Given the description of an element on the screen output the (x, y) to click on. 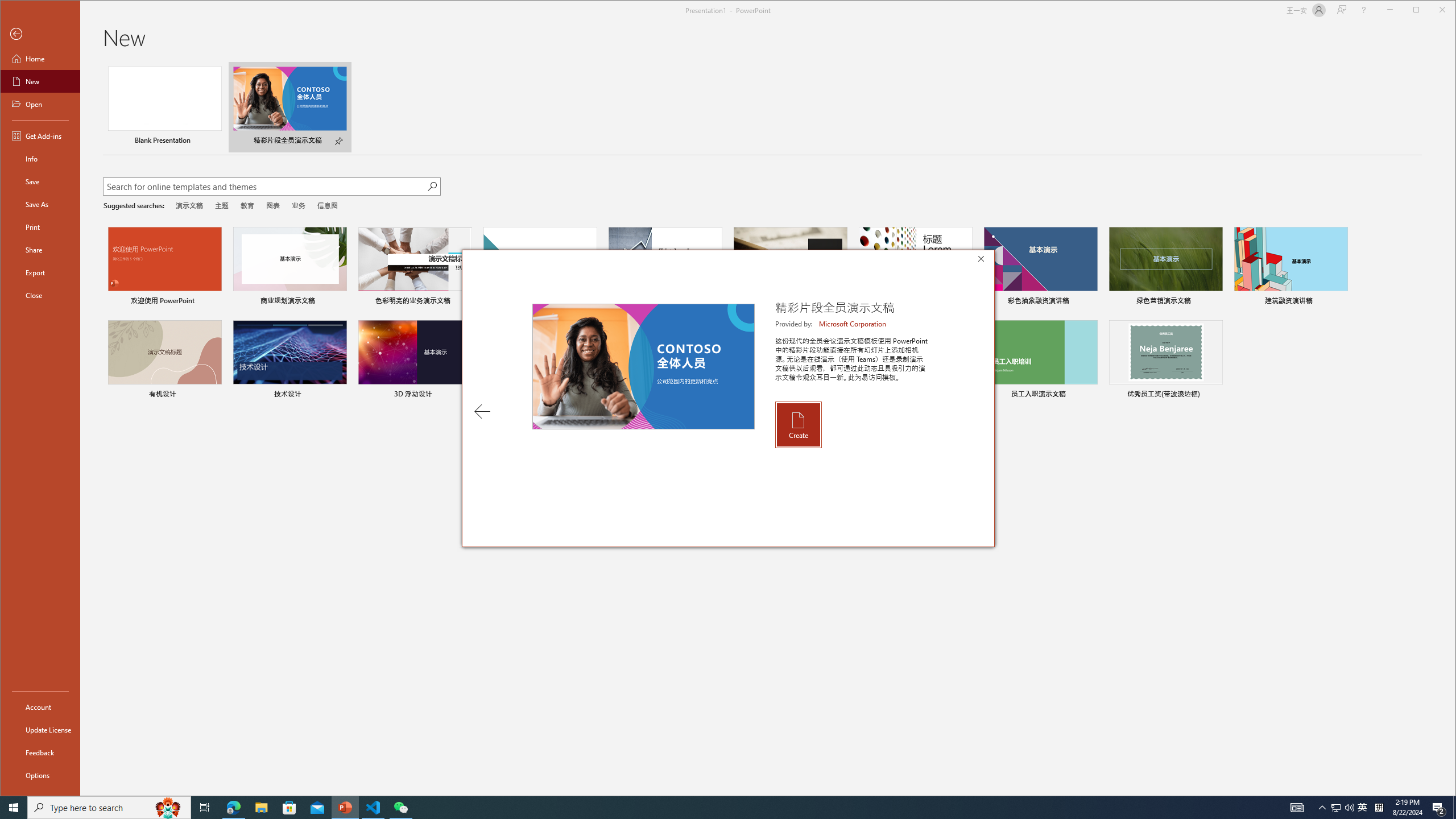
Show desktop (1454, 807)
Get Add-ins (40, 135)
Save As (40, 203)
Search highlights icon opens search home window (167, 807)
Create (797, 424)
Info (1335, 807)
